Given the description of an element on the screen output the (x, y) to click on. 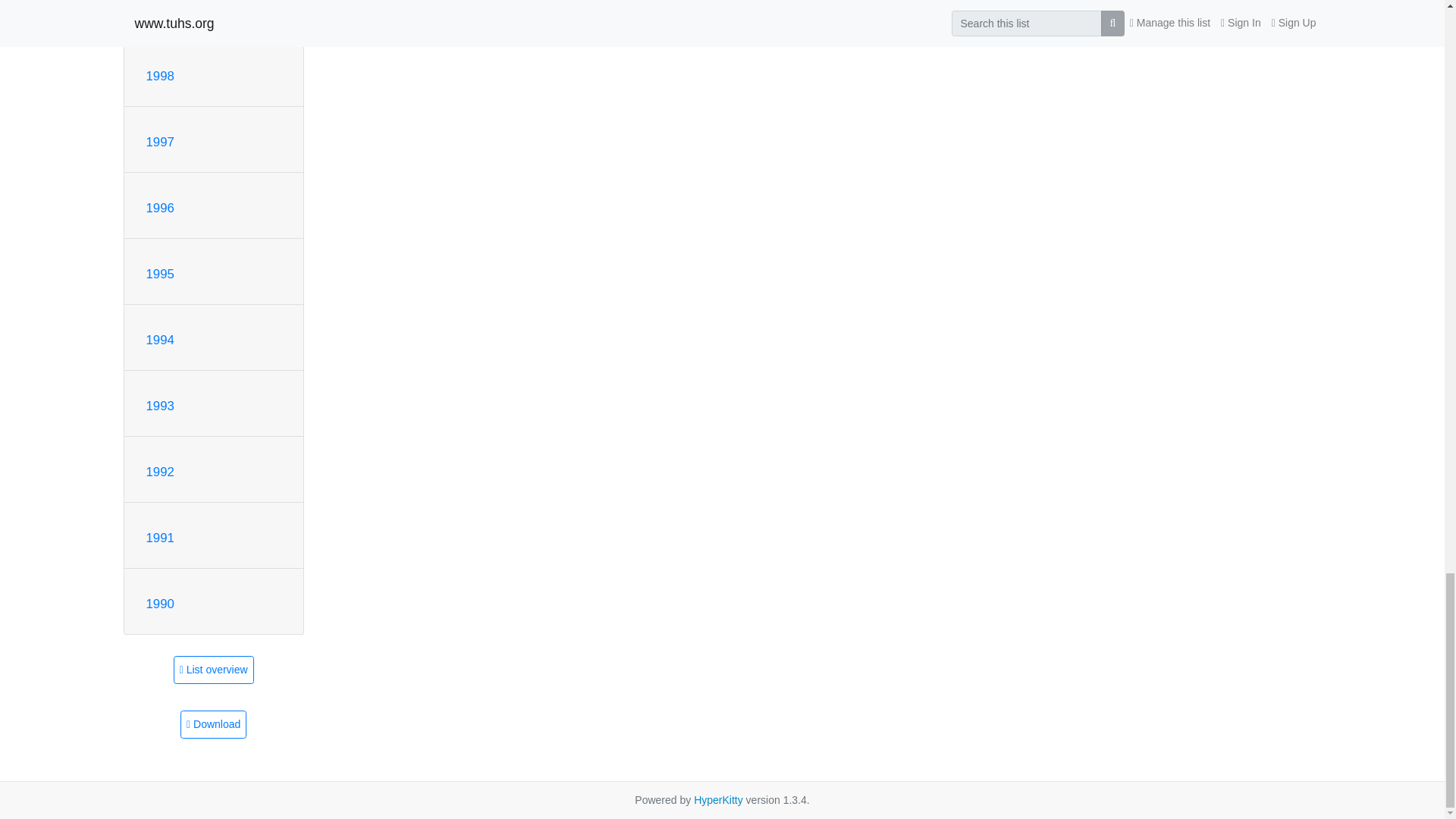
This message in gzipped mbox format (213, 724)
